Given the description of an element on the screen output the (x, y) to click on. 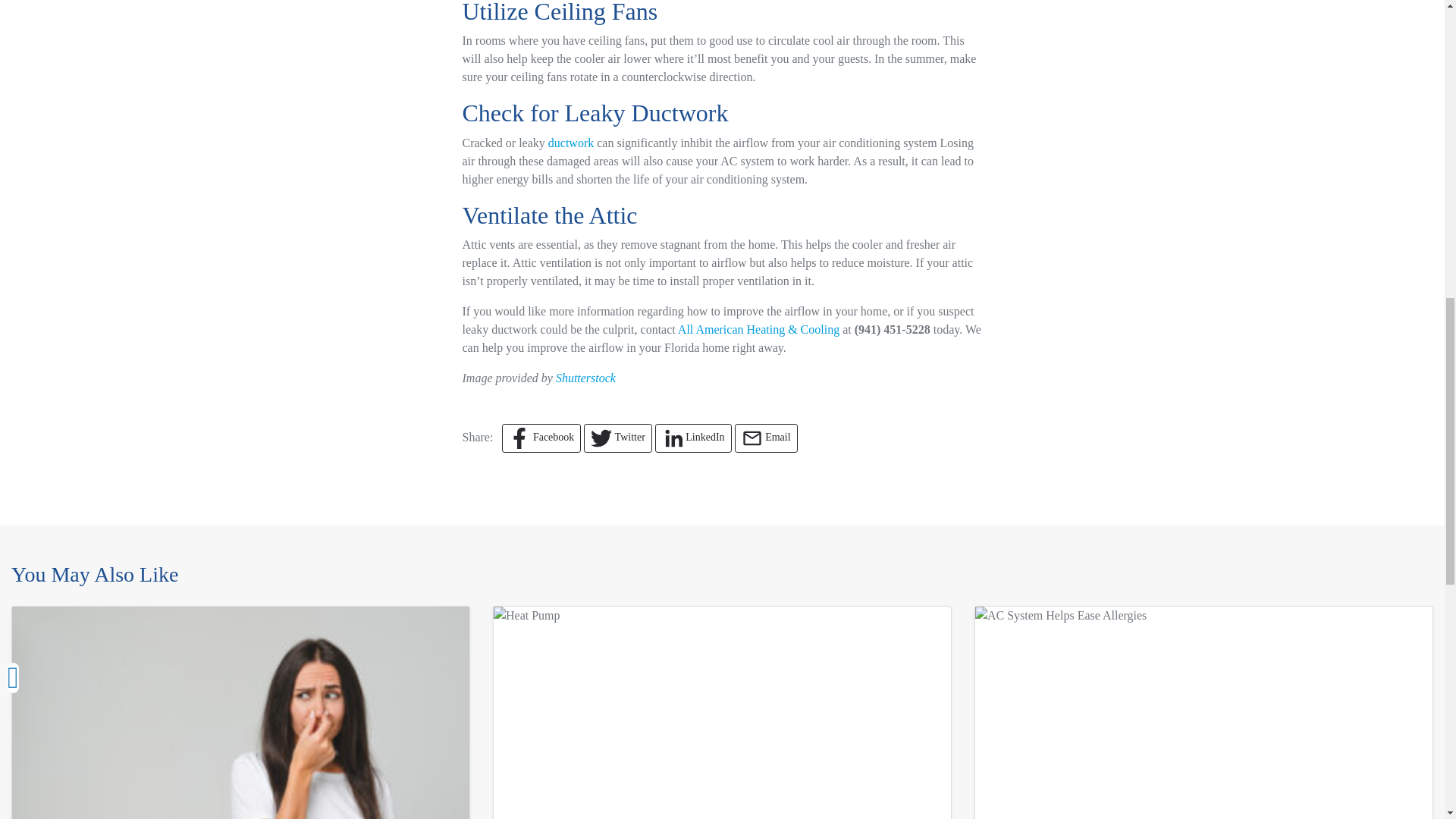
LinkedIn (693, 438)
Email (766, 438)
Twitter (616, 438)
Facebook (541, 438)
Shutterstock (585, 377)
ductwork (571, 142)
